Given the description of an element on the screen output the (x, y) to click on. 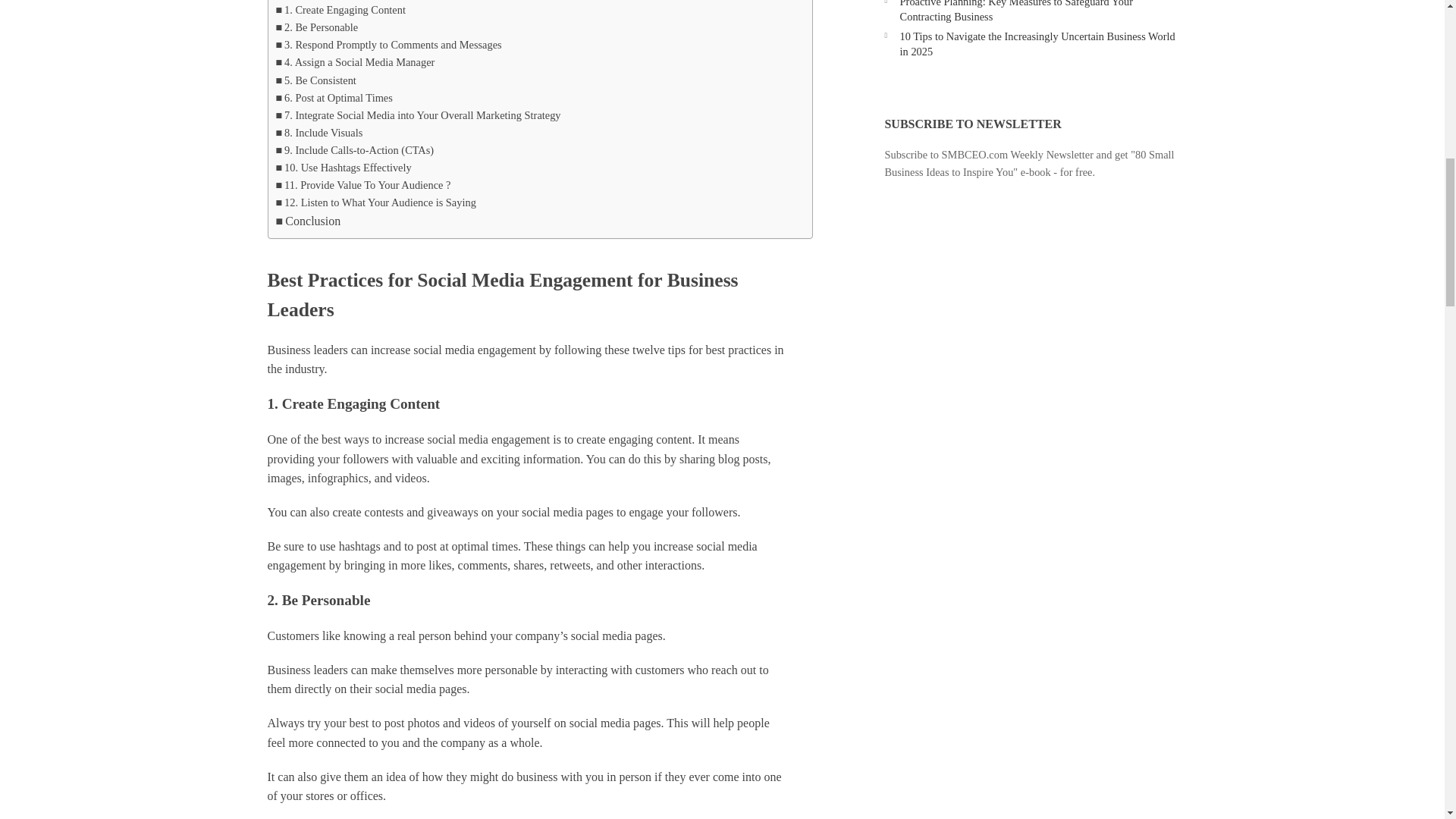
12. Listen to What Your Audience is Saying (376, 202)
11. Provide Value To Your Audience ? (363, 185)
2. Be Personable (317, 27)
1. Create Engaging Content (341, 9)
4. Assign a Social Media Manager (355, 62)
2. Be Personable (317, 27)
10. Use Hashtags Effectively (344, 167)
8. Include Visuals (319, 132)
